Given the description of an element on the screen output the (x, y) to click on. 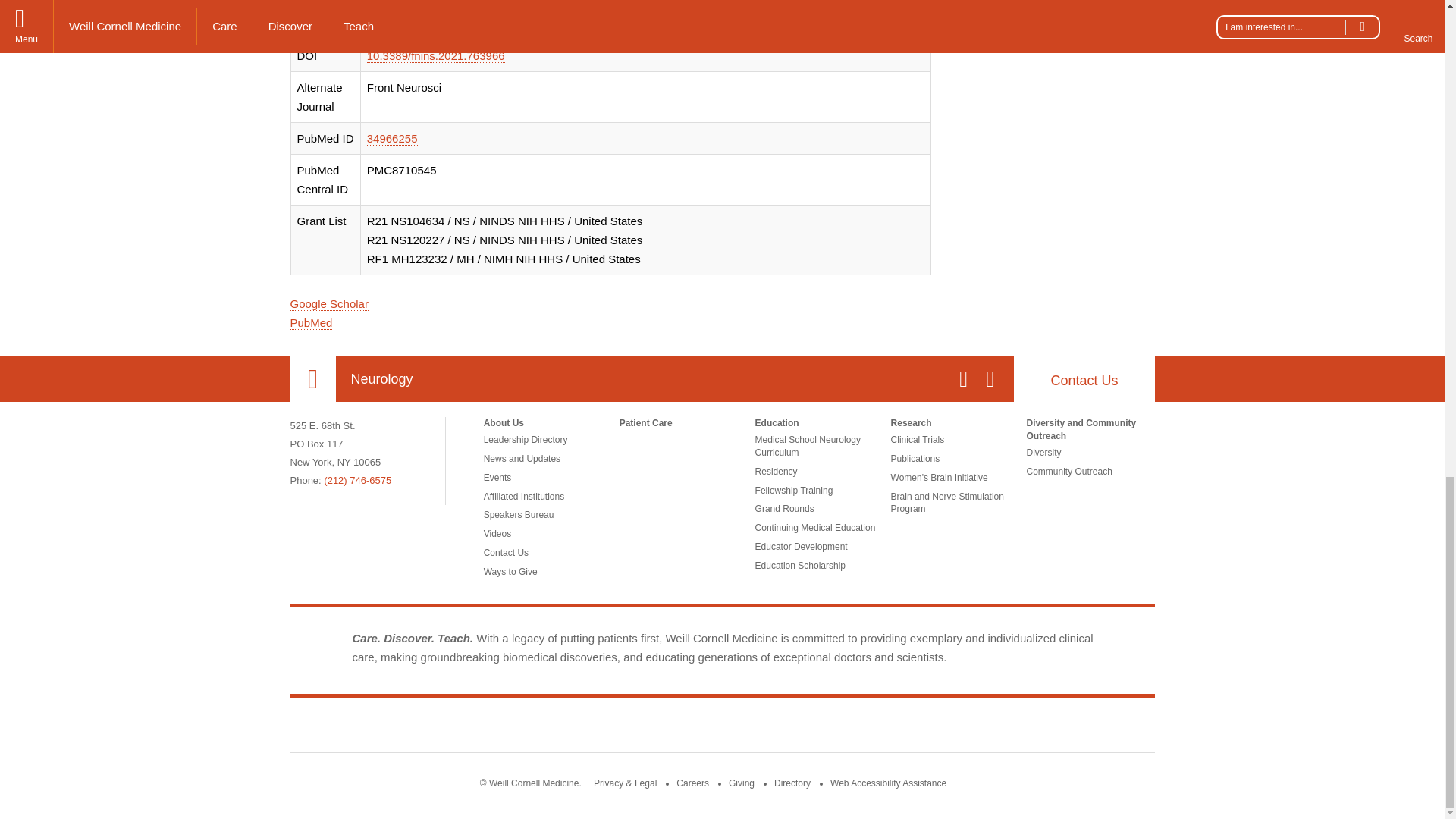
Click to search Google Scholar for this entry (328, 304)
Click to view the PubMed listing for this node (310, 323)
